Given the description of an element on the screen output the (x, y) to click on. 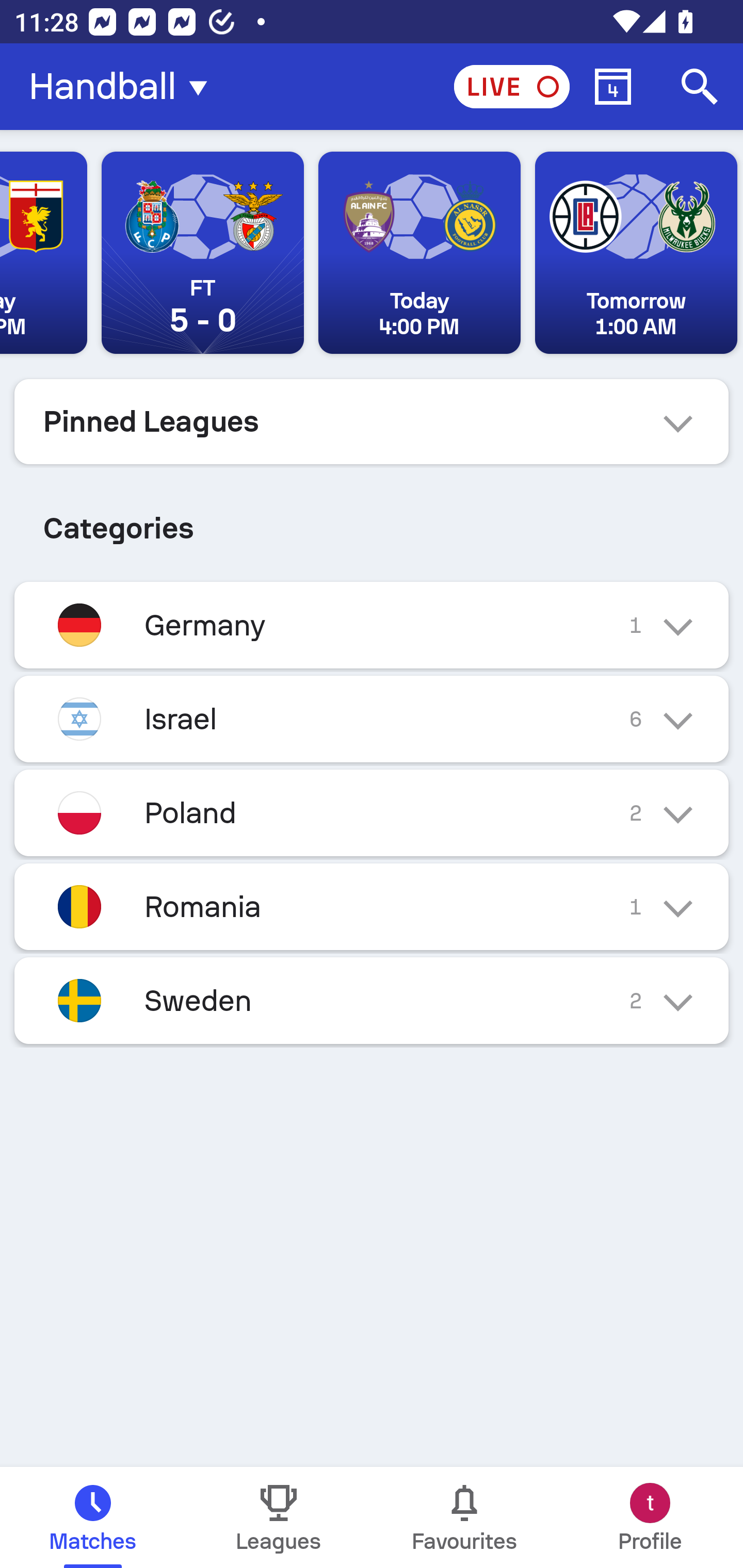
Handball (124, 86)
Calendar (612, 86)
Search (699, 86)
FT 5 - 0 (202, 253)
Today
4:00 PM (419, 253)
Tomorrow
1:00 AM (635, 253)
Pinned Leagues (371, 421)
Categories (371, 520)
Germany 1 (371, 624)
Israel 6 (371, 718)
Poland 2 (371, 812)
Romania 1 (371, 906)
Sweden 2 (371, 1001)
Leagues (278, 1517)
Favourites (464, 1517)
Profile (650, 1517)
